Given the description of an element on the screen output the (x, y) to click on. 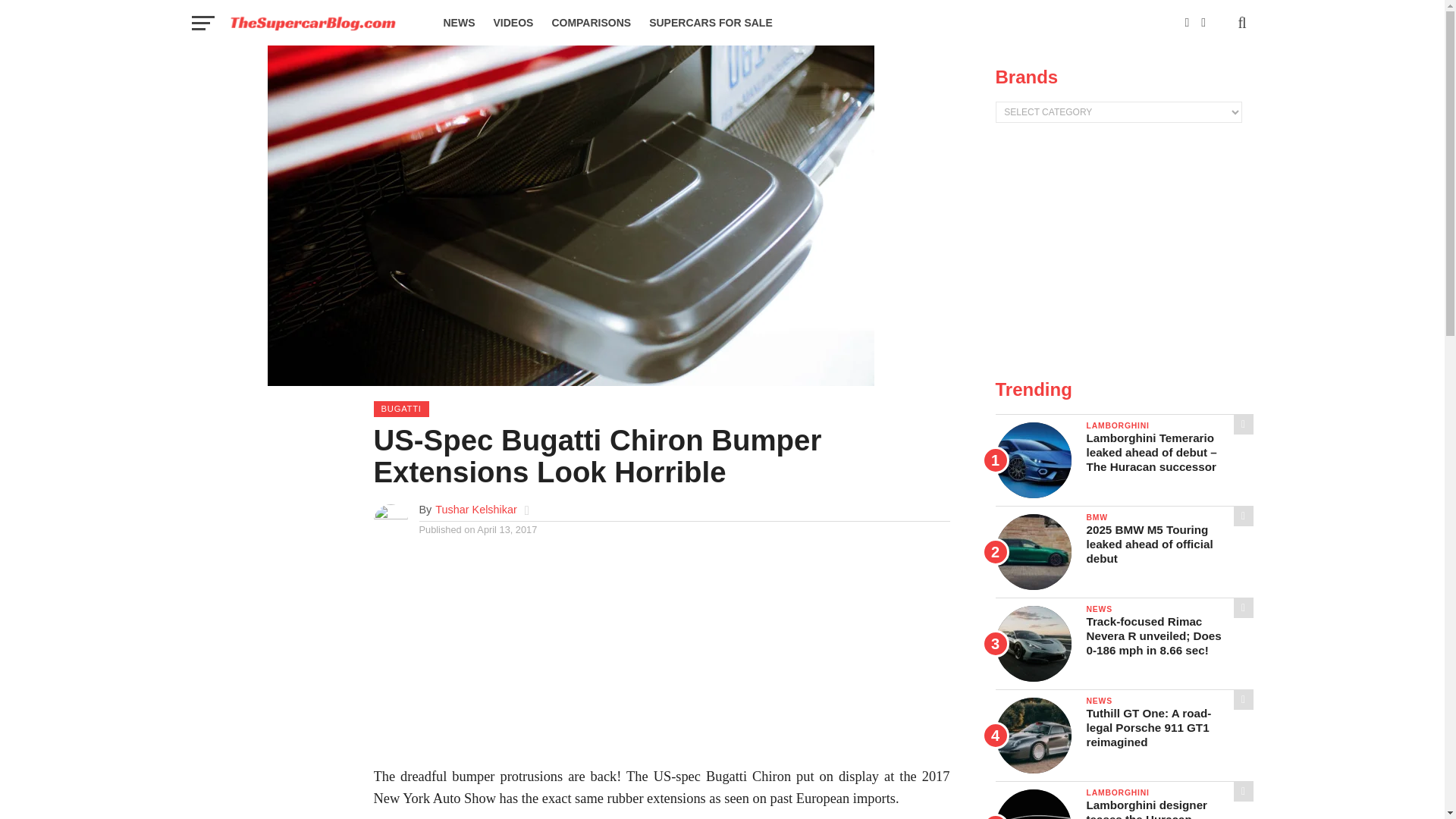
Posts by Tushar Kelshikar (475, 509)
COMPARISONS (590, 22)
NEWS (458, 22)
Tushar Kelshikar (475, 509)
Advertisement (660, 659)
Advertisement (1123, 251)
SUPERCARS FOR SALE (710, 22)
VIDEOS (512, 22)
